Given the description of an element on the screen output the (x, y) to click on. 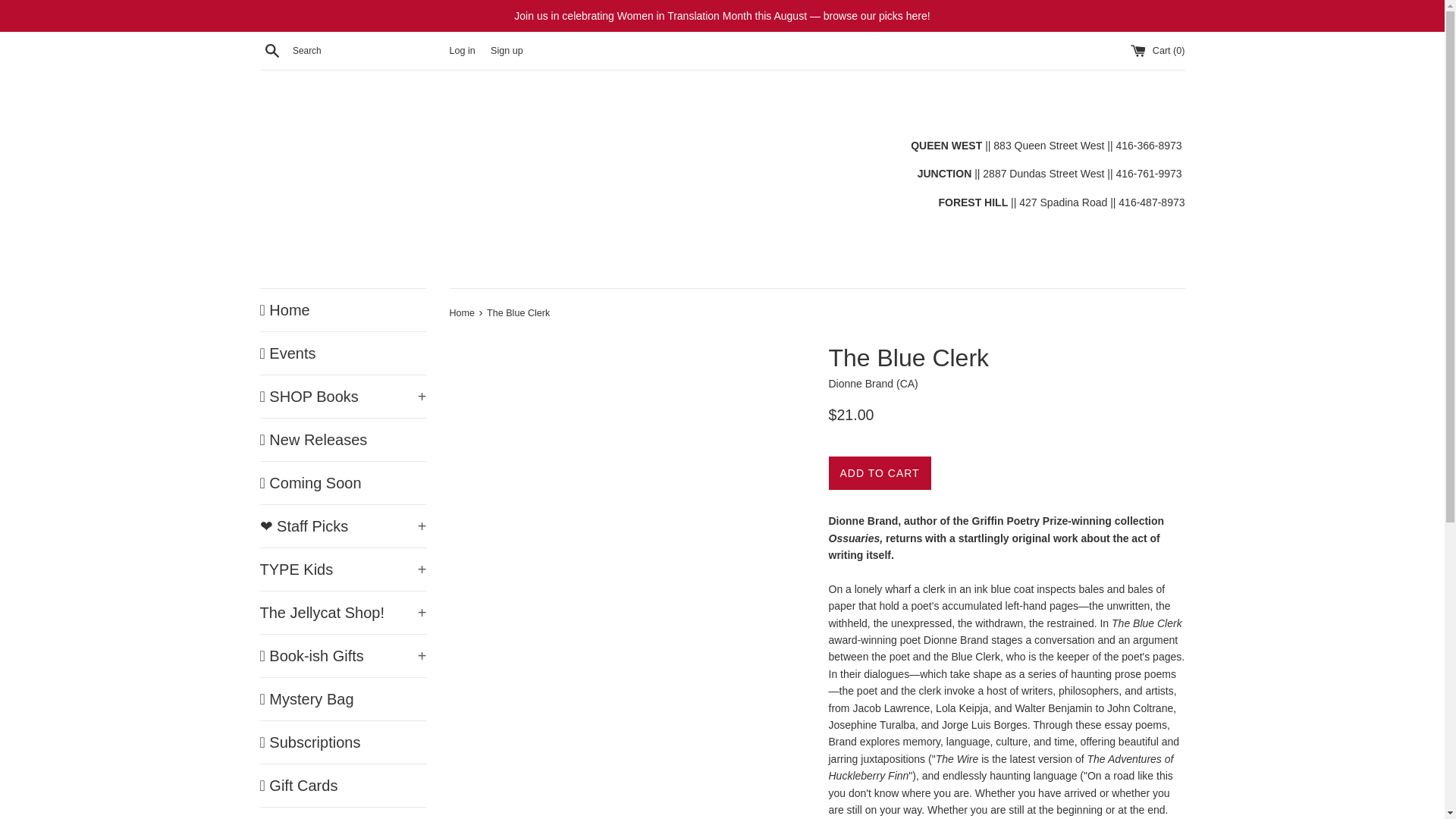
Log in (461, 50)
Sign up (506, 50)
Search (271, 49)
Back to the frontpage (462, 312)
